Given the description of an element on the screen output the (x, y) to click on. 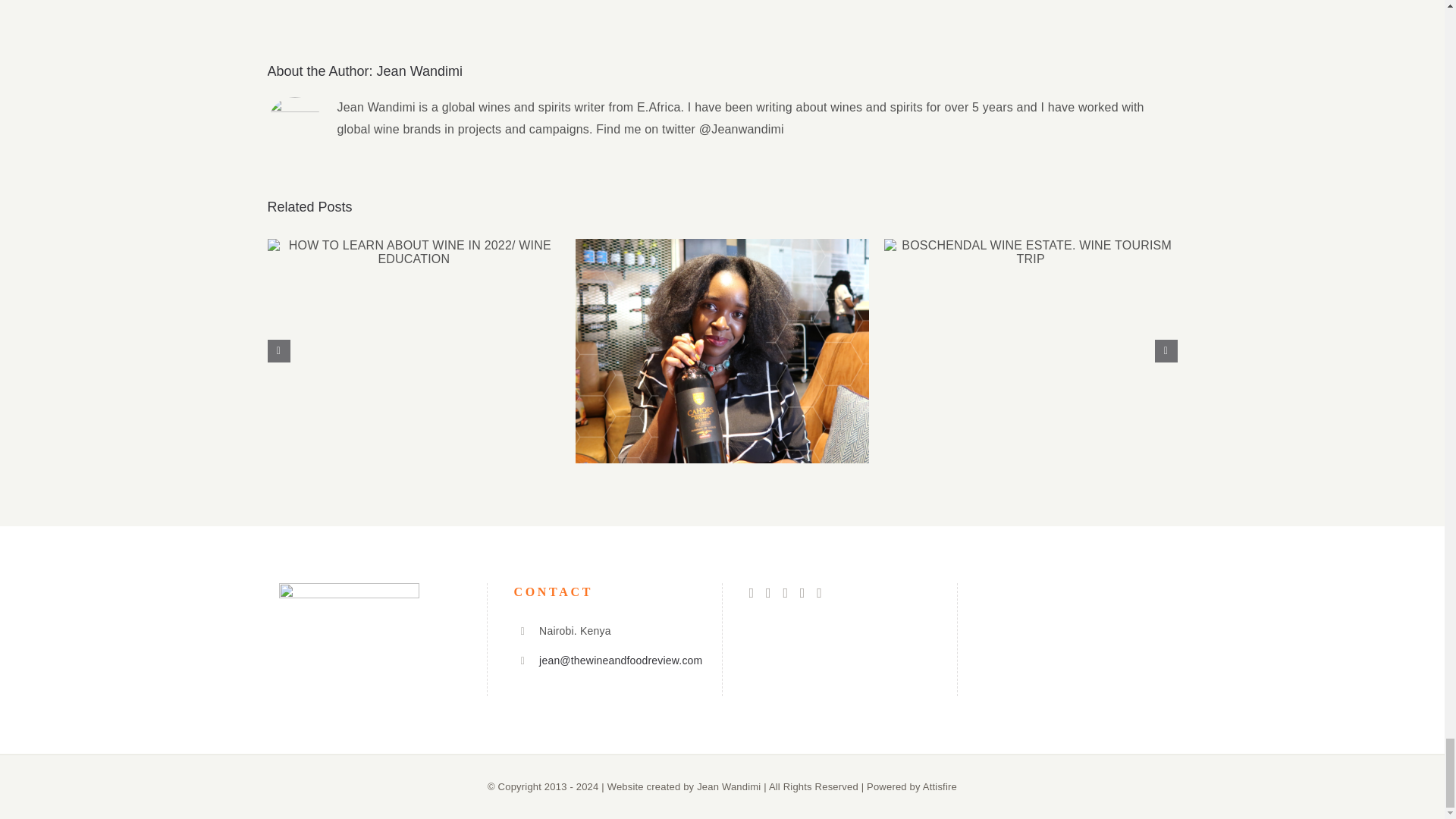
Facebook (751, 592)
Posts by Jean Wandimi (420, 70)
Instagram (768, 592)
Jean Wandimi (420, 70)
